Given the description of an element on the screen output the (x, y) to click on. 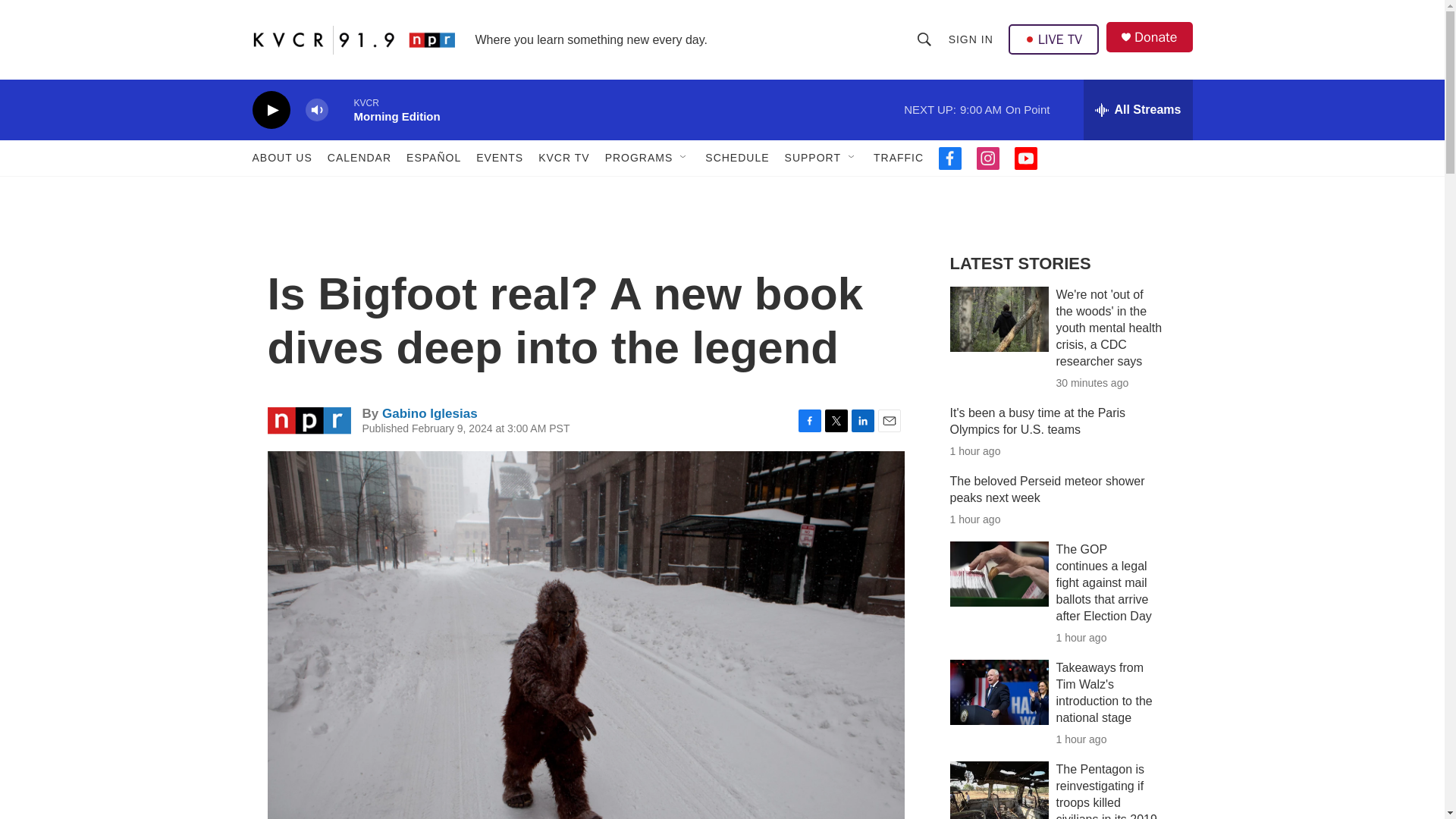
Show Search (924, 39)
